Given the description of an element on the screen output the (x, y) to click on. 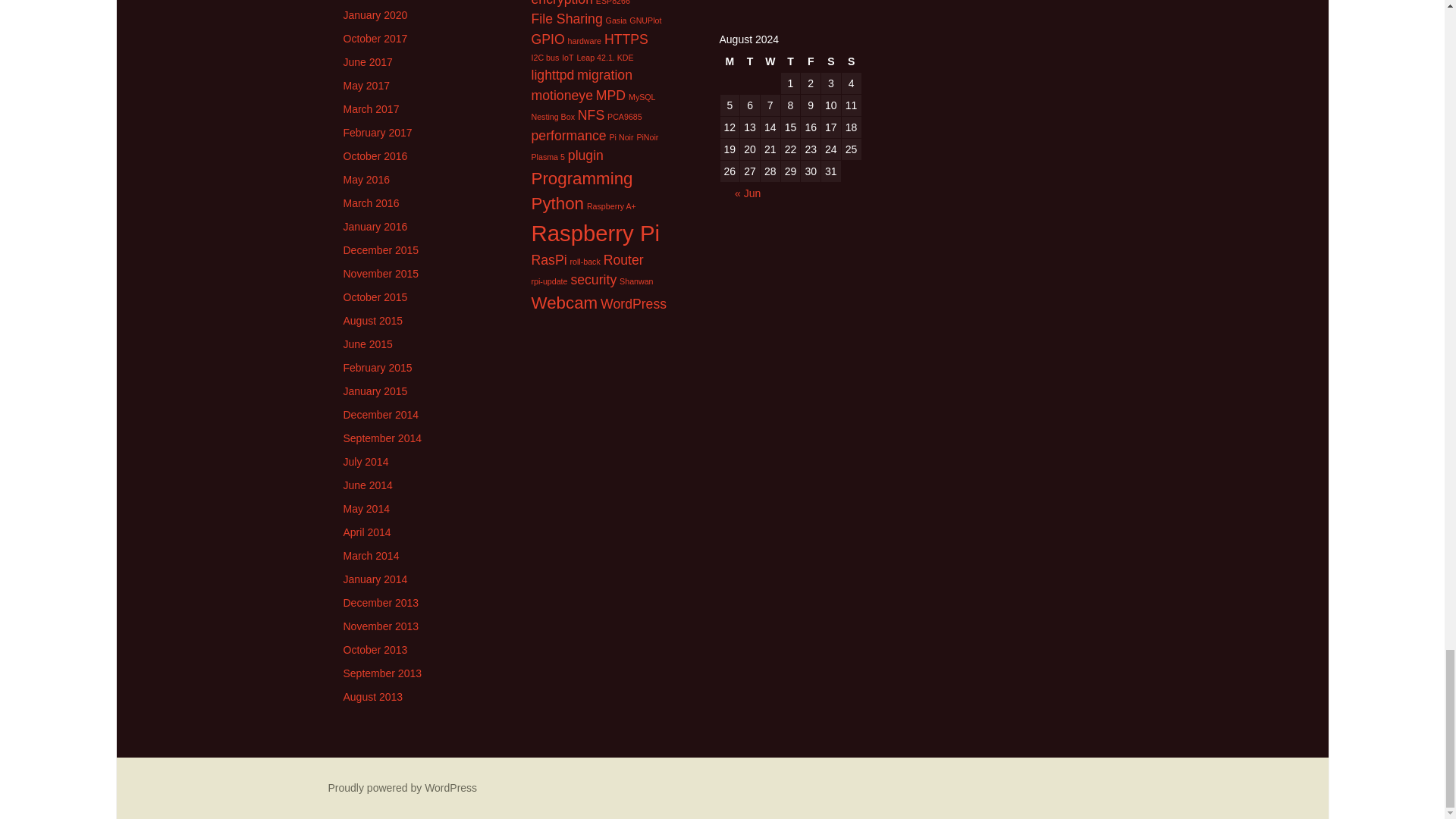
Thursday (790, 61)
Wednesday (770, 61)
Tuesday (749, 61)
Monday (729, 61)
